Given the description of an element on the screen output the (x, y) to click on. 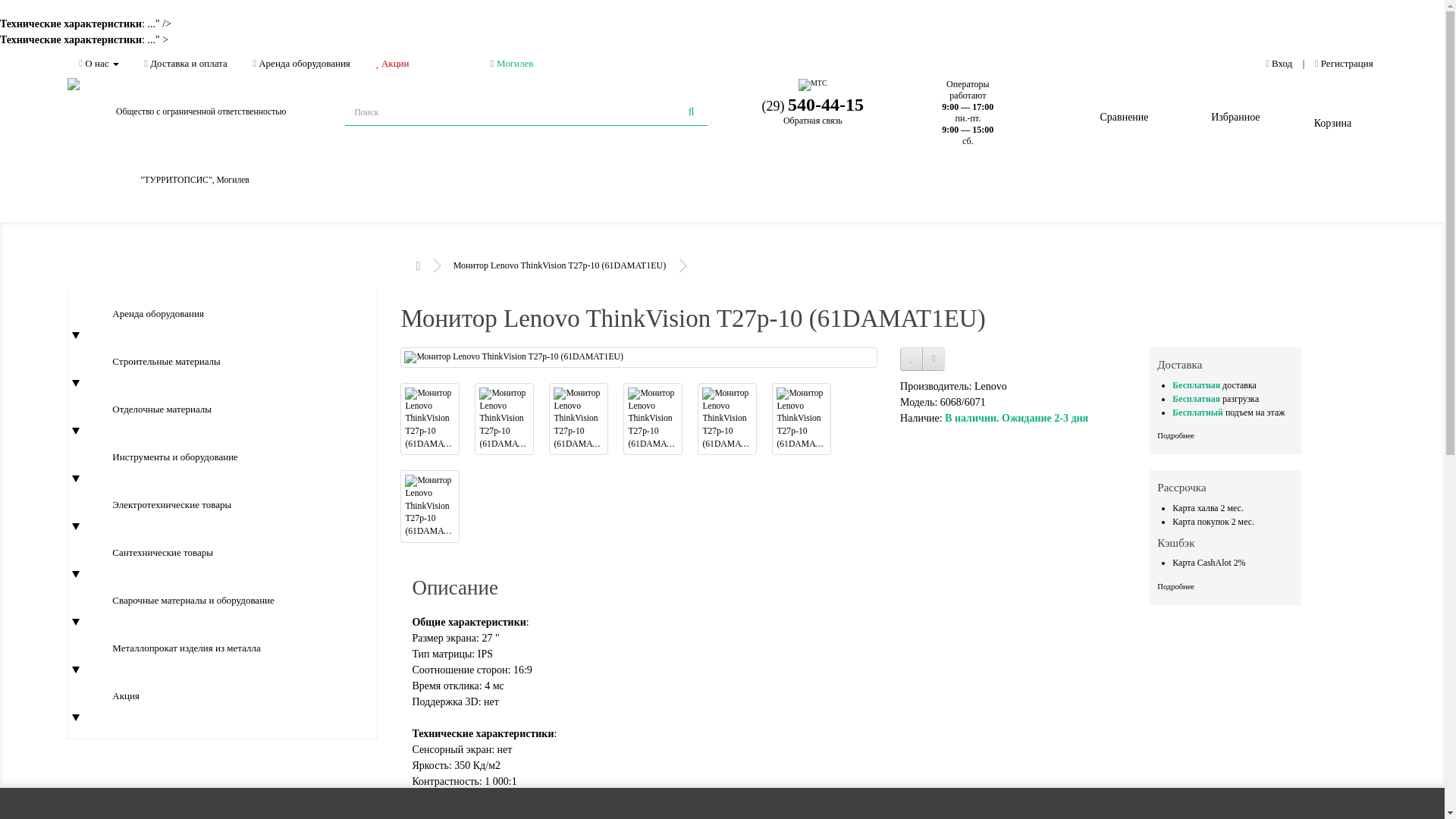
Lenovo Element type: text (990, 386)
+375 (29) 540-44-15 Element type: hover (812, 85)
